Given the description of an element on the screen output the (x, y) to click on. 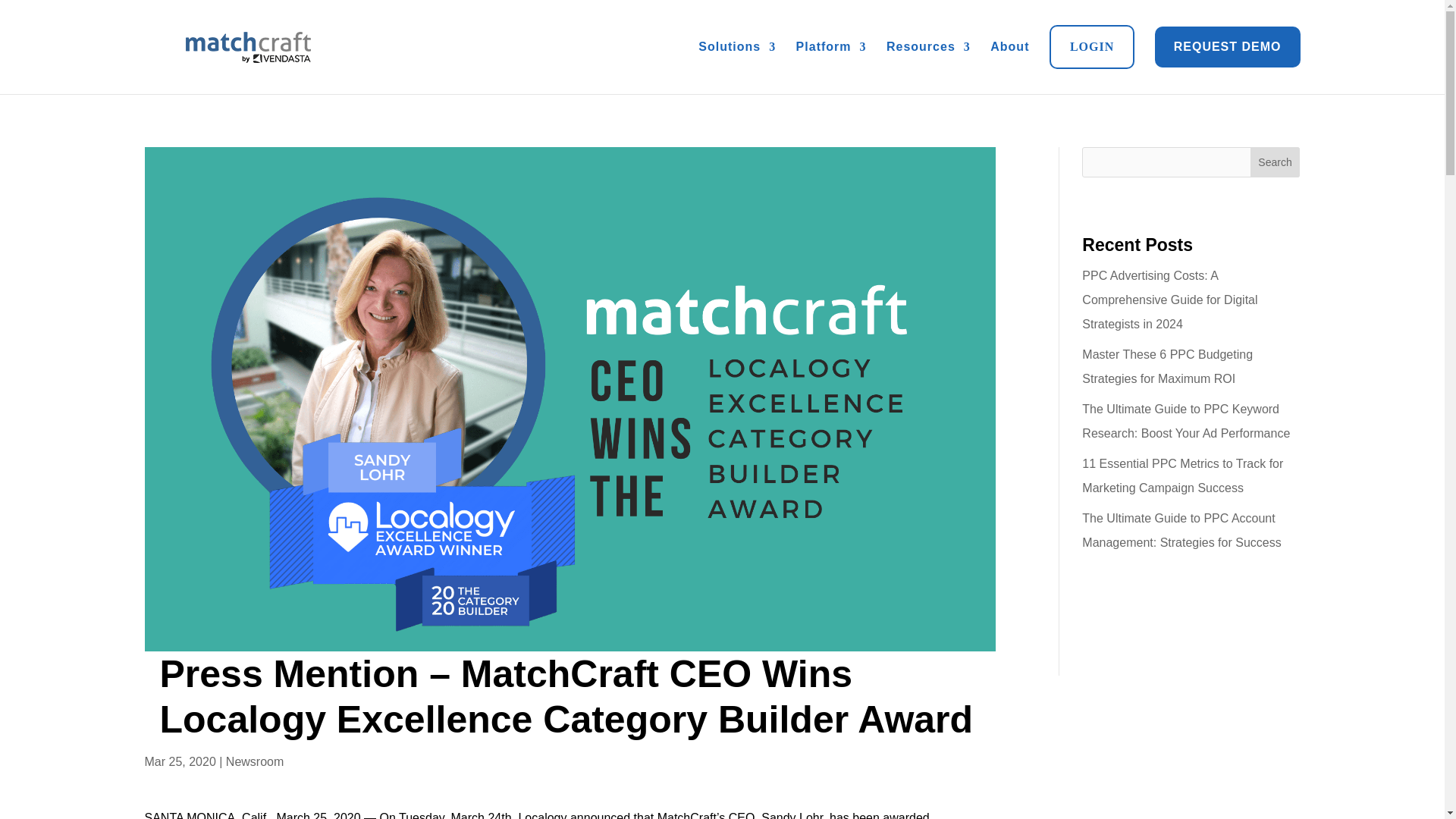
Resources (928, 46)
About (1009, 46)
Platform (831, 46)
Solutions (737, 46)
Master These 6 PPC Budgeting Strategies for Maximum ROI (1166, 366)
LOGIN (1091, 46)
Search (1275, 162)
